Given the description of an element on the screen output the (x, y) to click on. 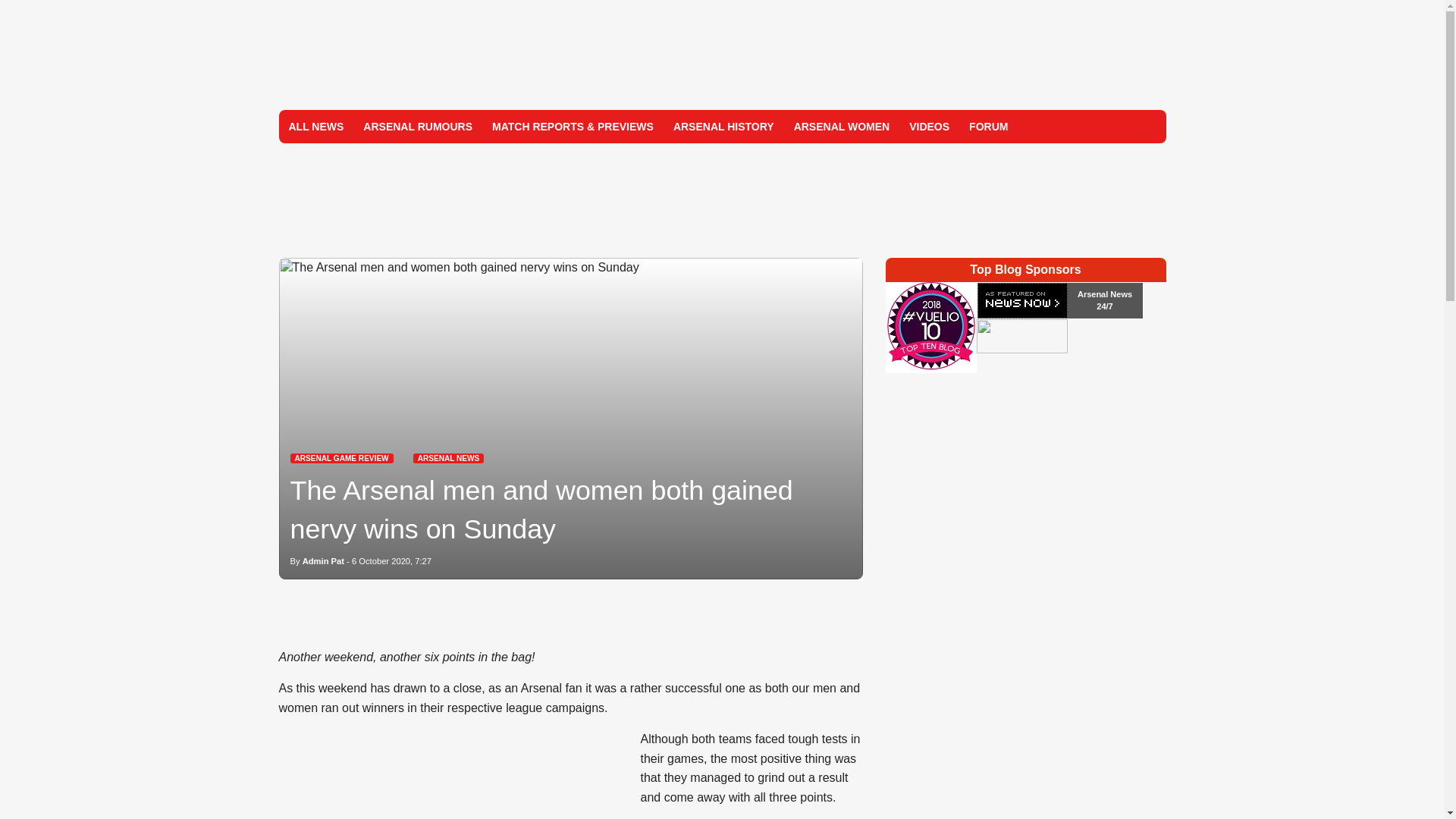
ALL NEWS (316, 126)
ARSENAL NEWS (448, 458)
ARSENAL RUMOURS (417, 126)
Latest Arsenal game review News (341, 458)
Latest Arsenal News News (448, 458)
Search (1147, 126)
Admin Pat (322, 560)
ARSENAL WOMEN (841, 126)
ARSENAL HISTORY (723, 126)
